Given the description of an element on the screen output the (x, y) to click on. 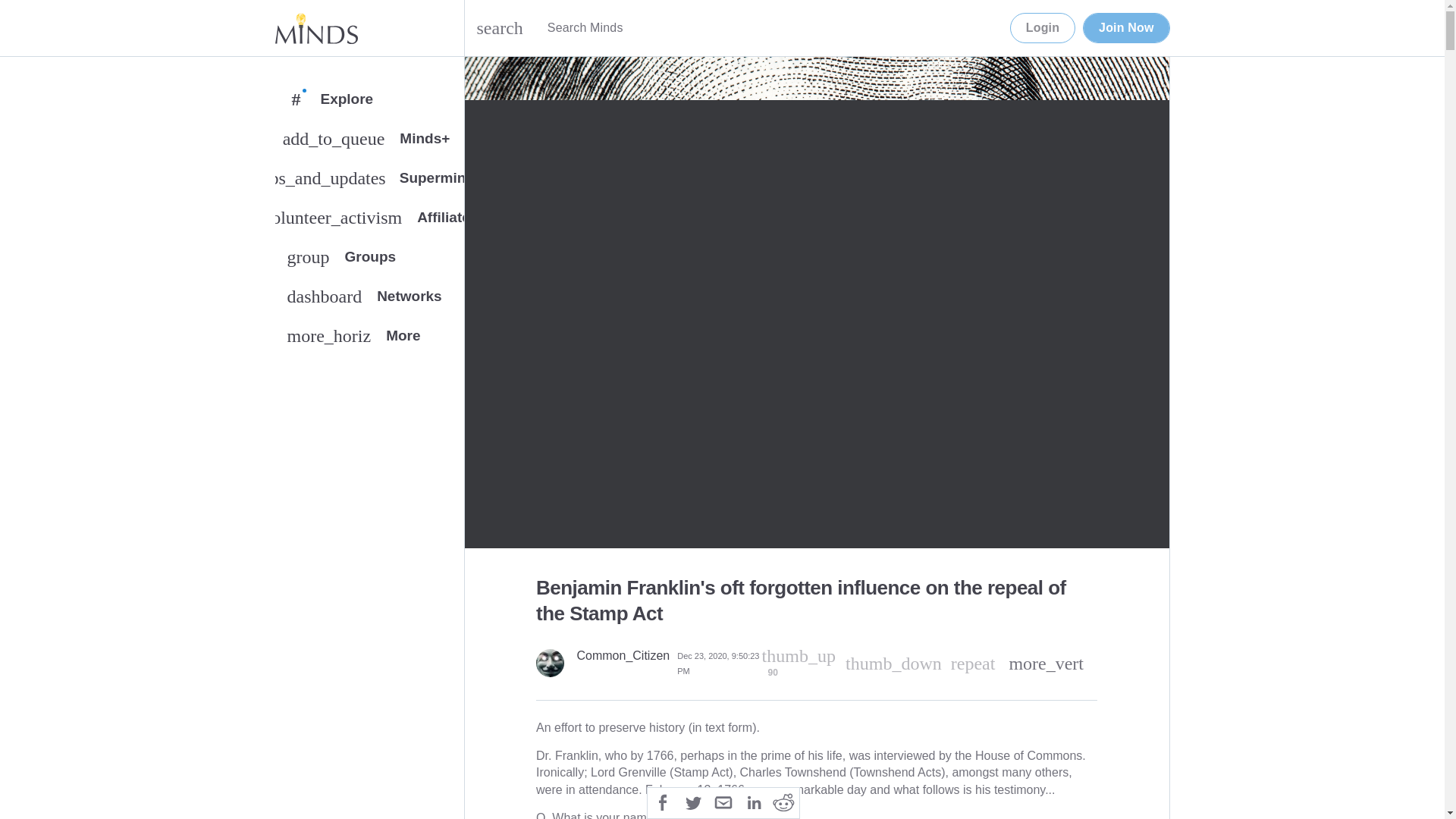
Facebook (662, 801)
Join Now (1126, 28)
Join Now (1126, 28)
LinkedIn (369, 260)
repeat (753, 801)
Login (972, 663)
Twitter (369, 299)
Login (1042, 28)
